Given the description of an element on the screen output the (x, y) to click on. 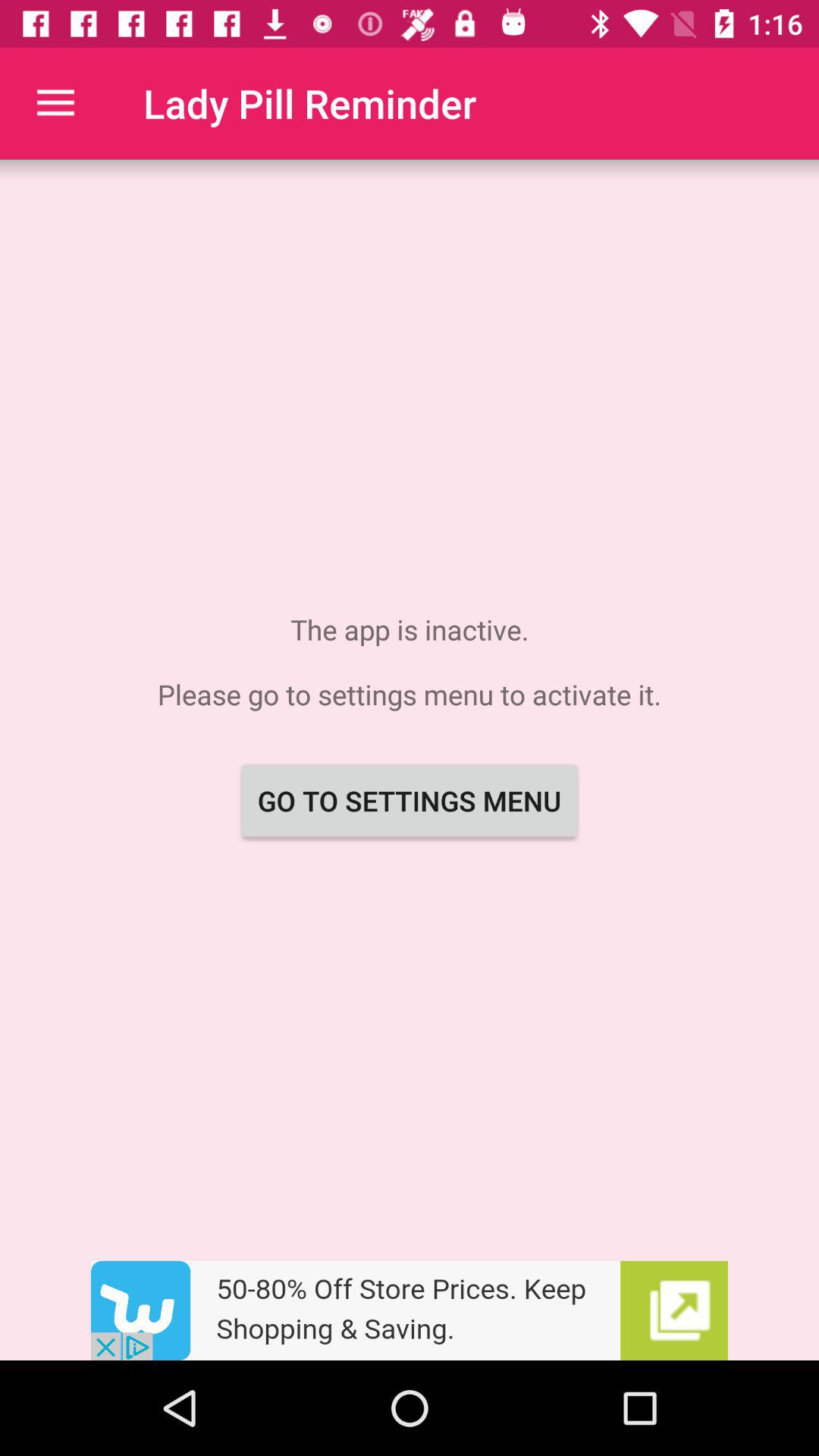
a link to wish (409, 1310)
